Given the description of an element on the screen output the (x, y) to click on. 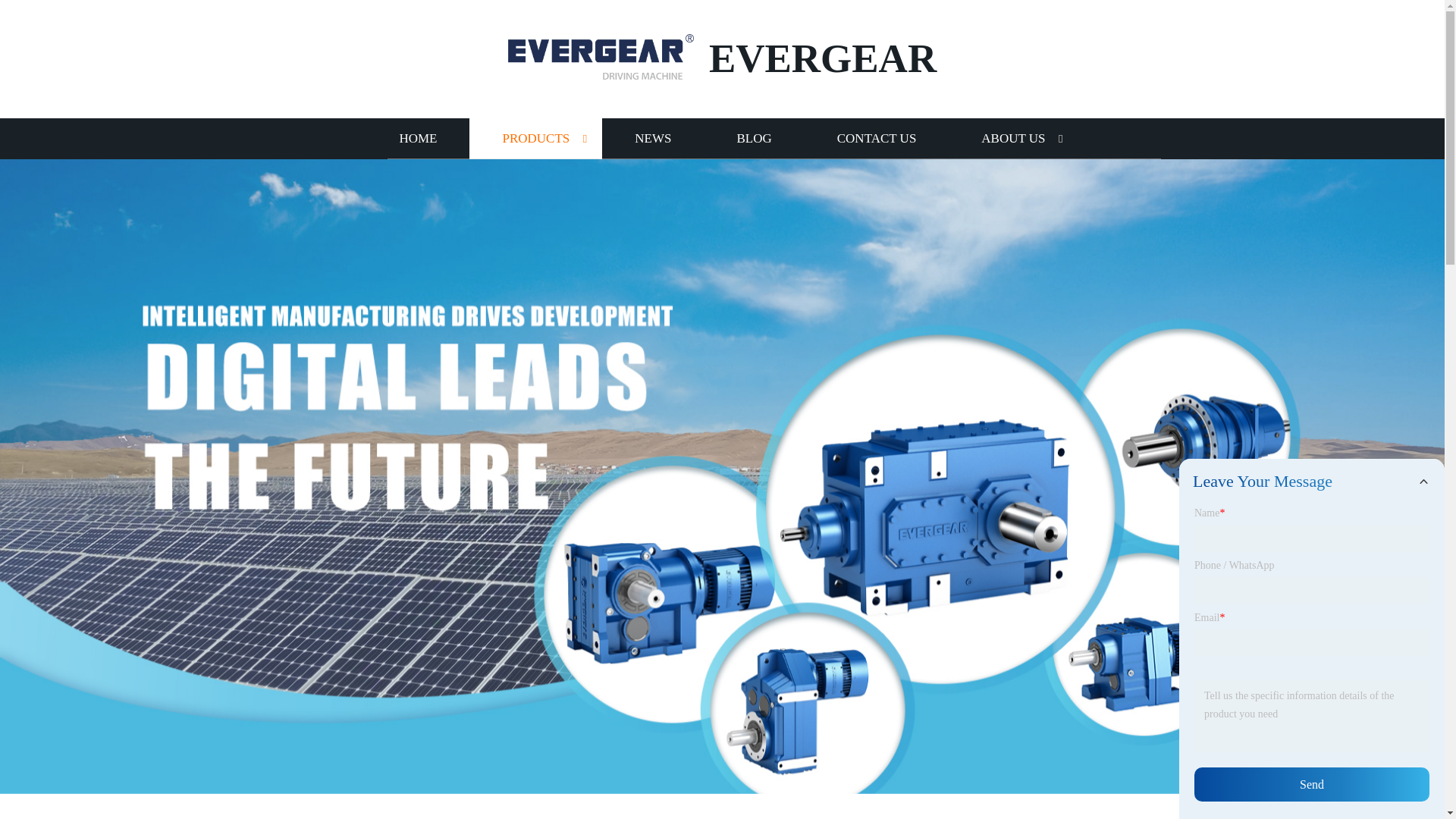
CONTACT US (877, 137)
NEWS (652, 137)
ABOUT US (1013, 137)
HOME (417, 137)
Top (1404, 779)
PRODUCTS (535, 137)
BLOG (753, 137)
